Given the description of an element on the screen output the (x, y) to click on. 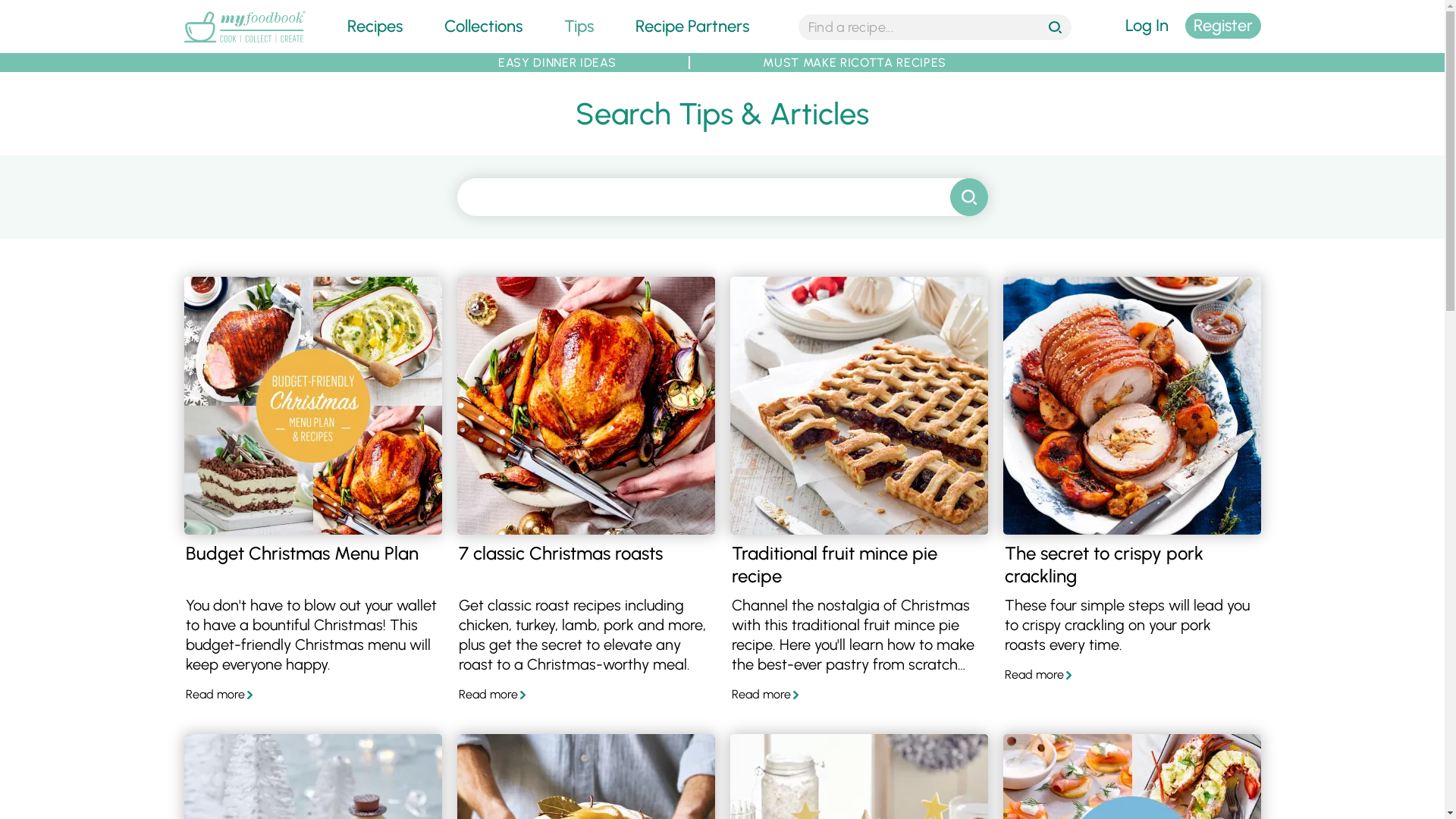
Register Element type: text (1222, 25)
Recipe Partners Element type: text (692, 25)
Log In Element type: text (1146, 25)
MUST MAKE RICOTTA RECIPES Element type: text (854, 62)
Collections Element type: text (483, 25)
The secret to crispy pork crackling Element type: hover (1131, 405)
myfoodbook home Element type: hover (243, 43)
Tips Element type: text (578, 25)
. Element type: text (968, 197)
Budget Christmas Menu Plan Element type: hover (312, 405)
7 classic Christmas roasts Element type: hover (585, 405)
go Element type: text (1057, 28)
Recipes Element type: text (374, 25)
EASY DINNER IDEAS Element type: text (556, 62)
Traditional fruit mince pie recipe Element type: hover (858, 405)
